Given the description of an element on the screen output the (x, y) to click on. 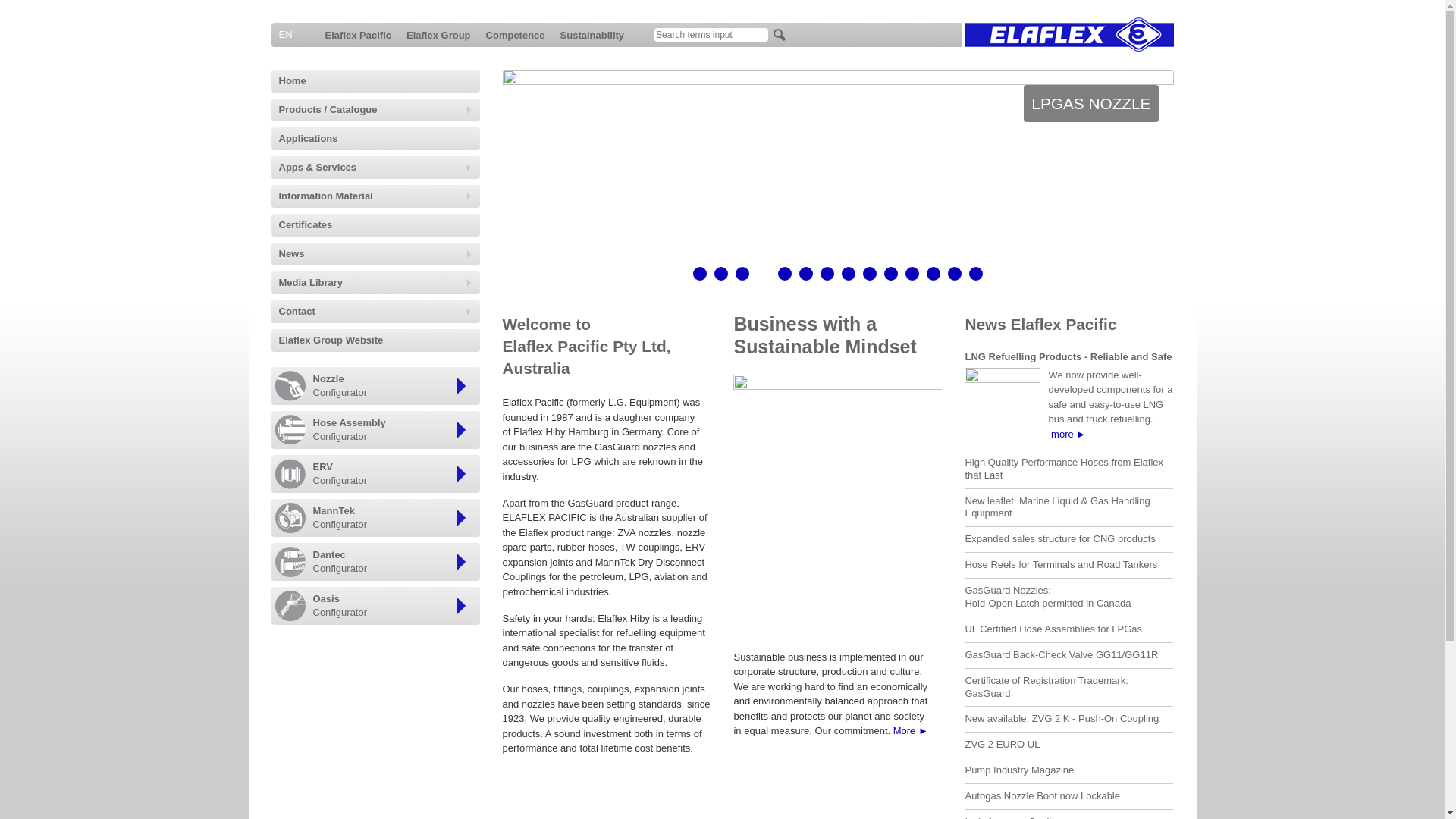
Dantec
Configurator Element type: text (393, 561)
Applications Element type: text (375, 138)
More Element type: text (910, 730)
Oasis
Configurator Element type: text (393, 605)
Home Element type: text (375, 80)
ERV
Configurator Element type: text (393, 473)
Products / Catalogue Element type: text (375, 109)
Certificates Element type: text (375, 224)
Information Material Element type: text (375, 196)
Elaflex Group Website Element type: text (375, 340)
MannTek
Configurator Element type: text (393, 517)
Media Library Element type: text (375, 282)
LPGAS NOZZLE Element type: text (837, 81)
News Element type: text (375, 253)
Contact Element type: text (375, 311)
Apps & Services Element type: text (375, 167)
Nozzle
Configurator Element type: text (393, 385)
Hose Assembly
Configurator Element type: text (393, 429)
